Given the description of an element on the screen output the (x, y) to click on. 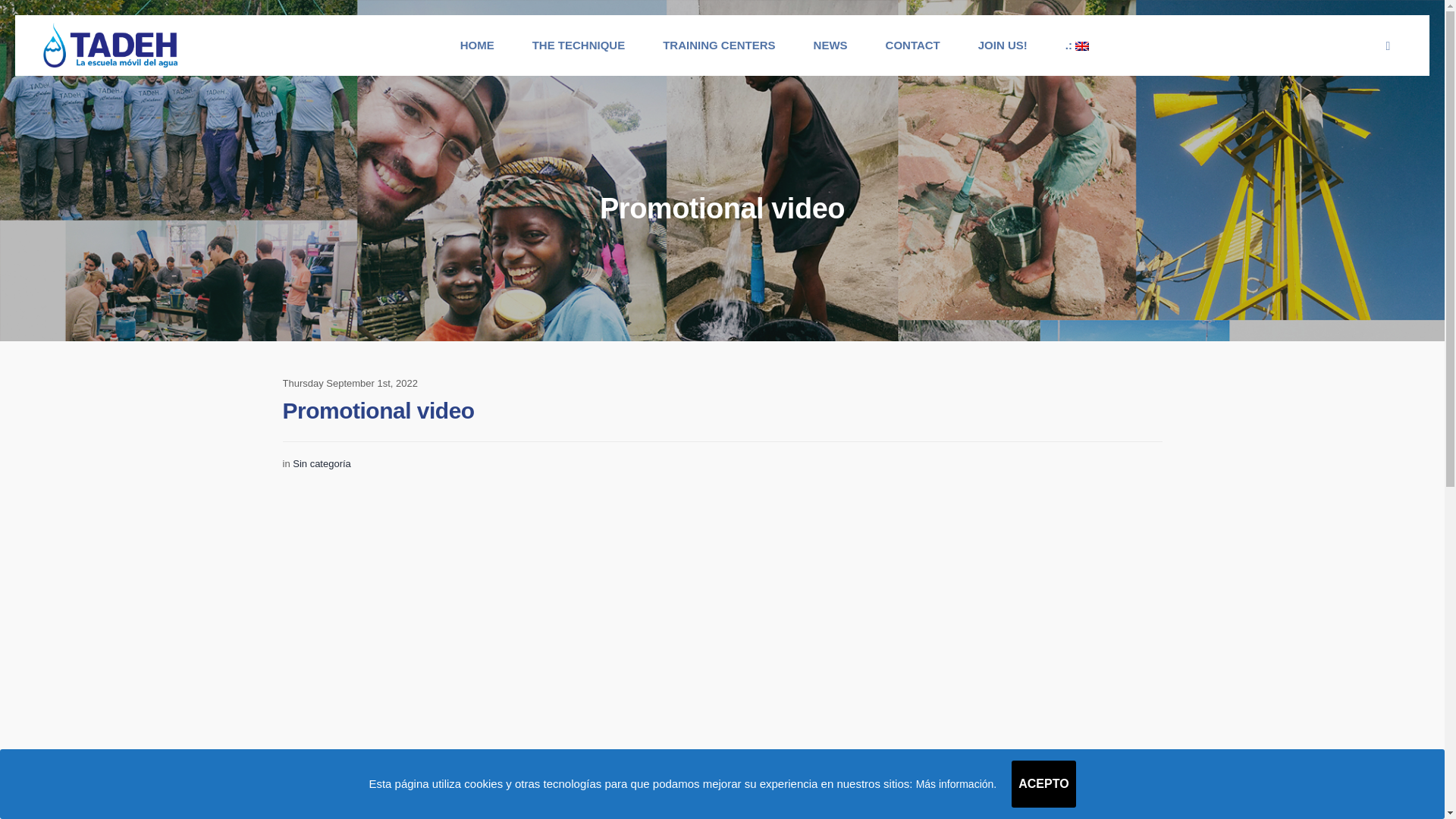
TRAINING CENTERS (718, 45)
JOIN US! (1002, 45)
HOME (477, 45)
NEWS (830, 45)
.:  (1077, 45)
ACEPTO (1043, 783)
English (1077, 45)
THE TECHNIQUE (579, 45)
Thursday September  1st, 2022 (349, 383)
CONTACT (912, 45)
